Given the description of an element on the screen output the (x, y) to click on. 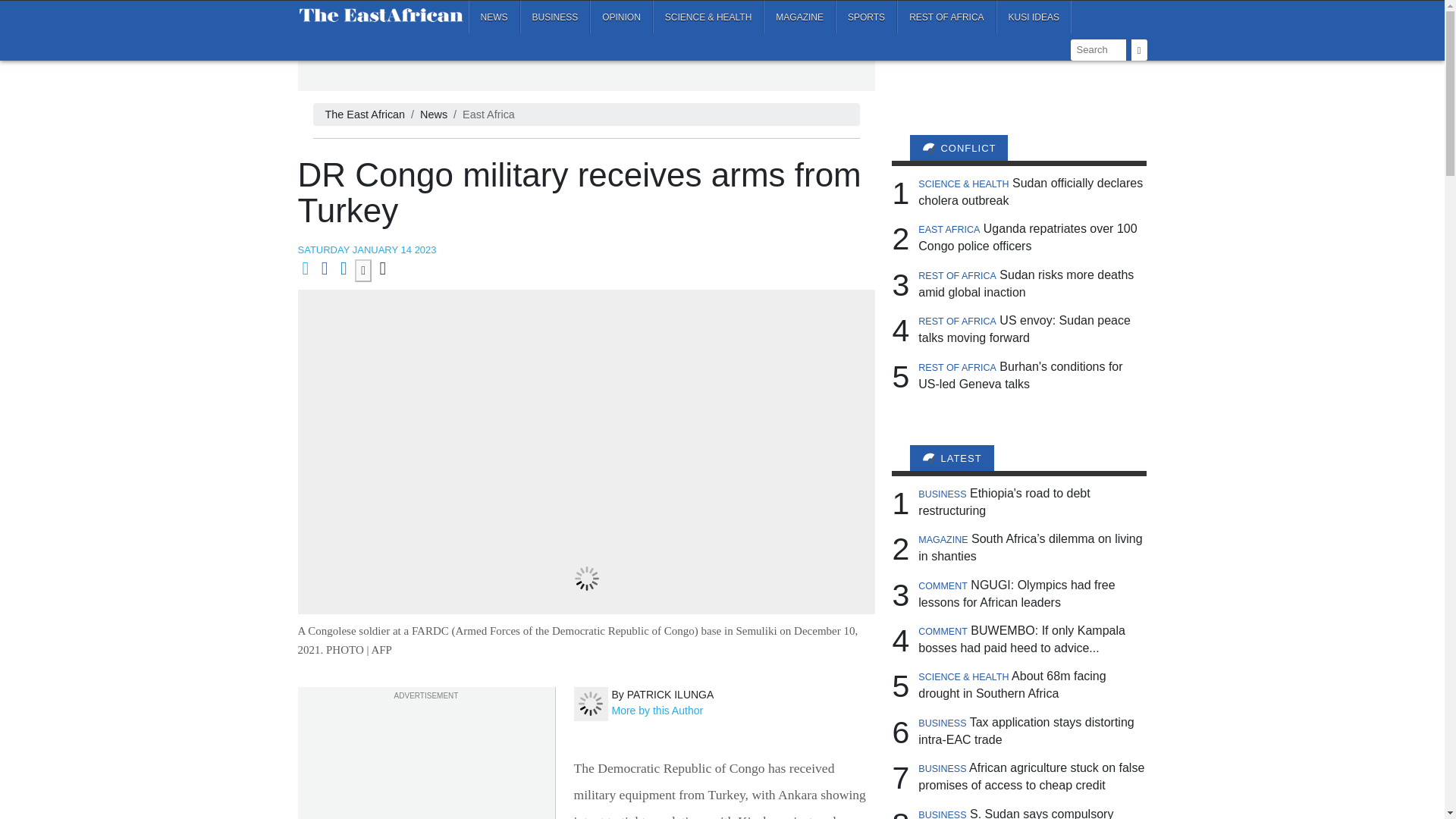
OPINION (620, 16)
NEWS (493, 16)
SPORTS (865, 16)
MAGAZINE (798, 16)
BUSINESS (555, 16)
